Given the description of an element on the screen output the (x, y) to click on. 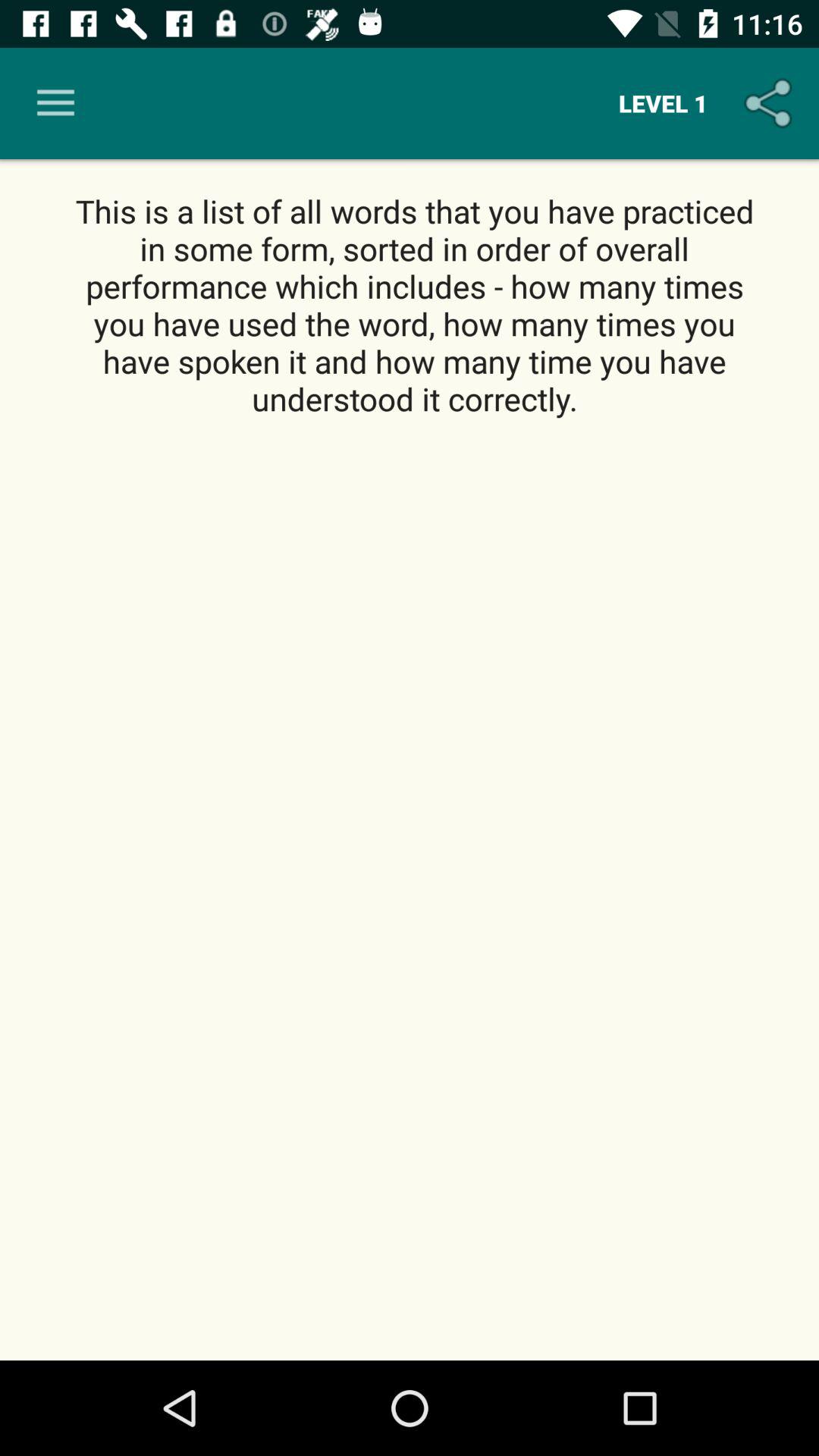
select the item next to level 1 icon (55, 103)
